Given the description of an element on the screen output the (x, y) to click on. 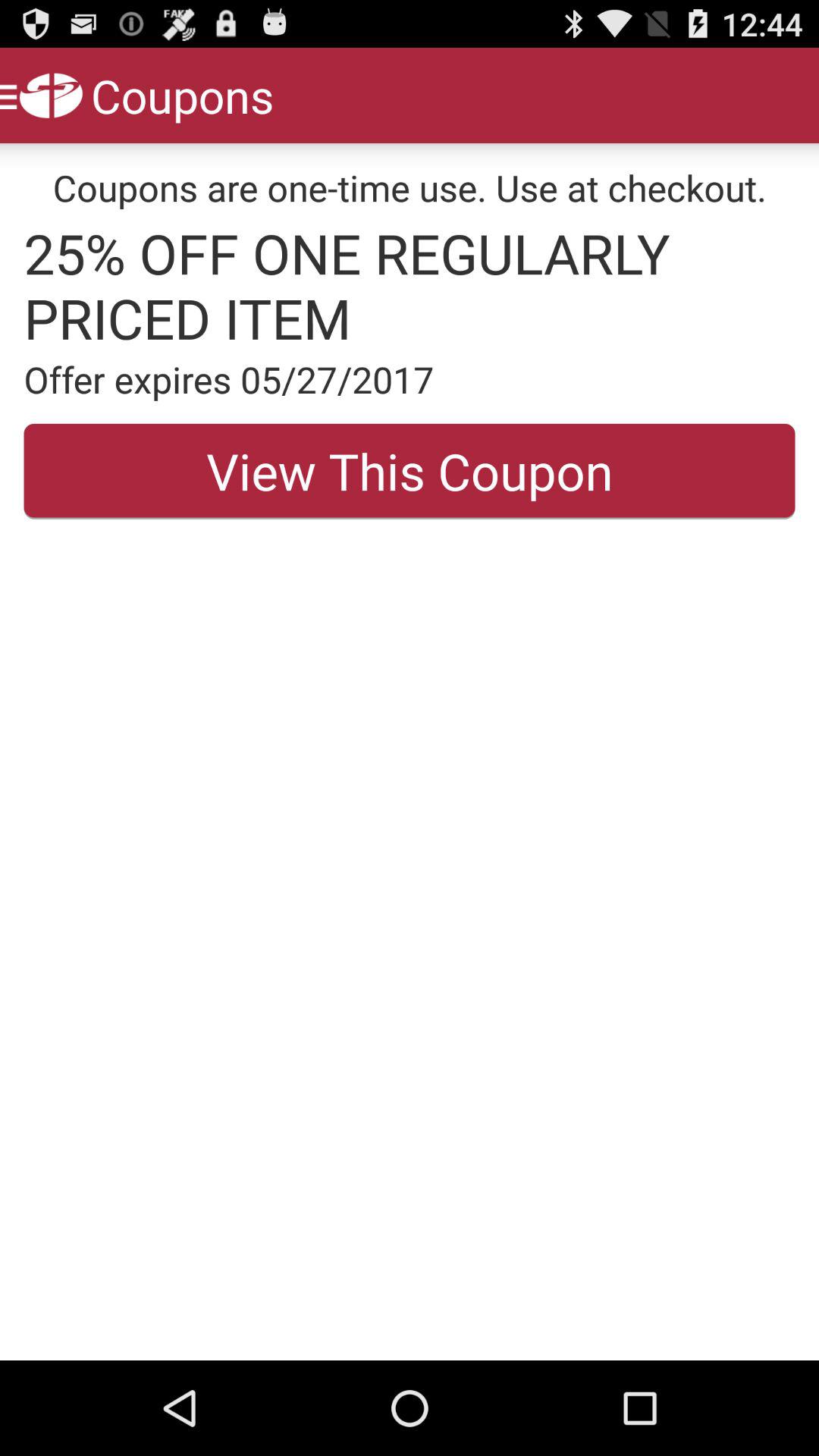
jump to the view this coupon icon (409, 471)
